Given the description of an element on the screen output the (x, y) to click on. 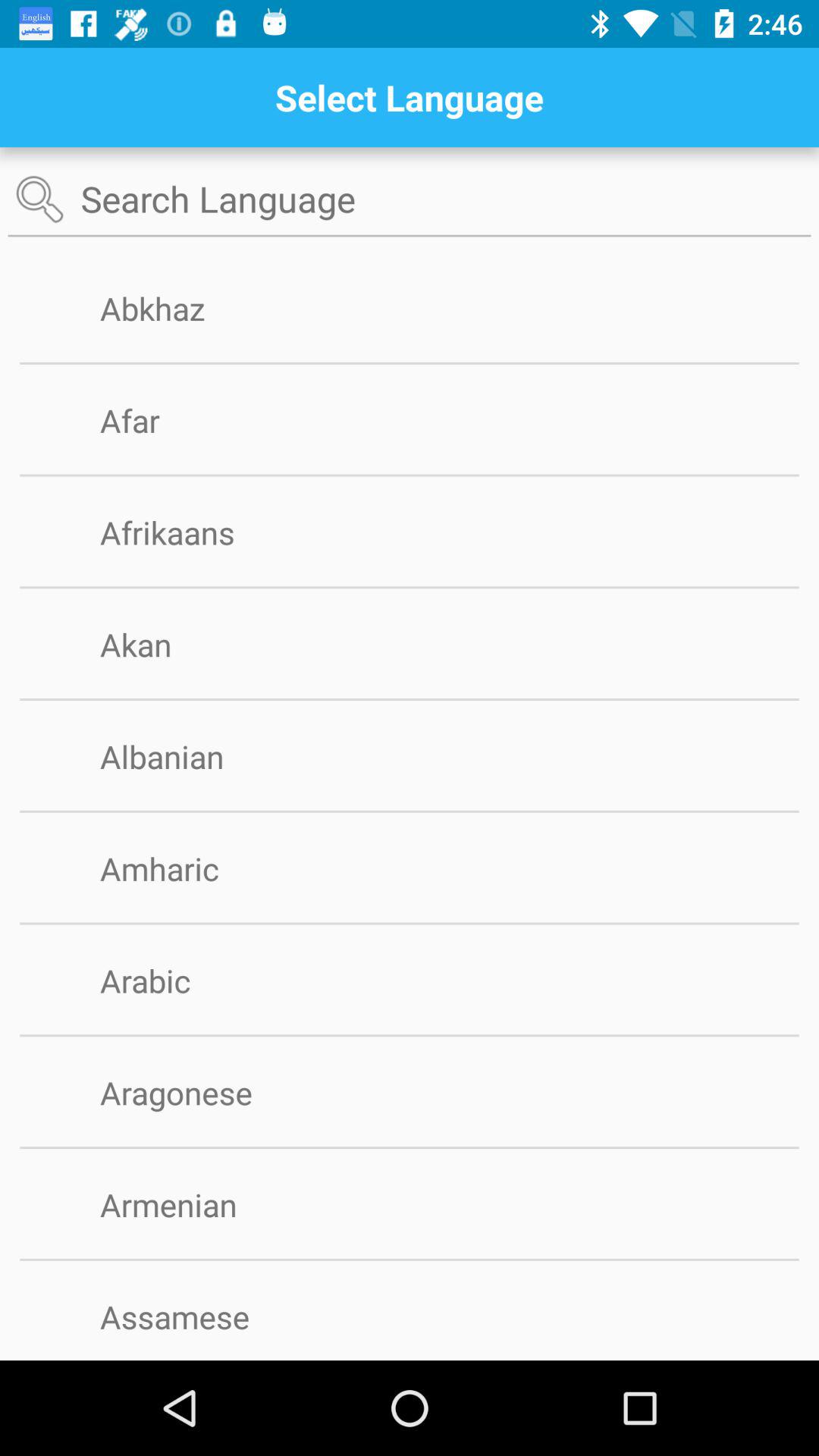
search through language list (409, 199)
